Given the description of an element on the screen output the (x, y) to click on. 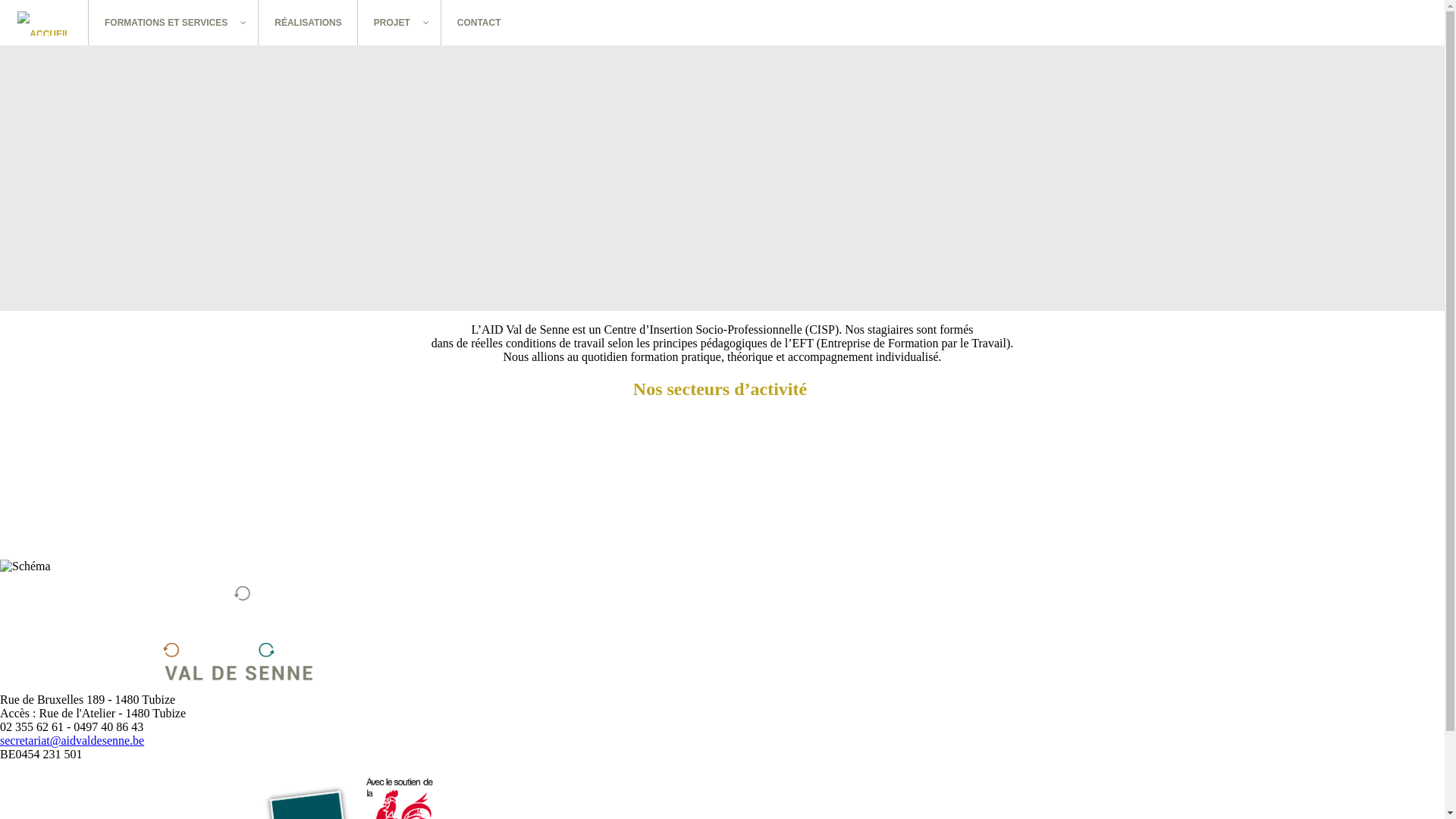
PROJET Element type: text (399, 22)
FORMATIONS ET SERVICES Element type: text (173, 22)
   Element type: text (44, 22)
CONTACT Element type: text (478, 22)
secretariat@aidvaldesenne.be Element type: text (72, 740)
